Given the description of an element on the screen output the (x, y) to click on. 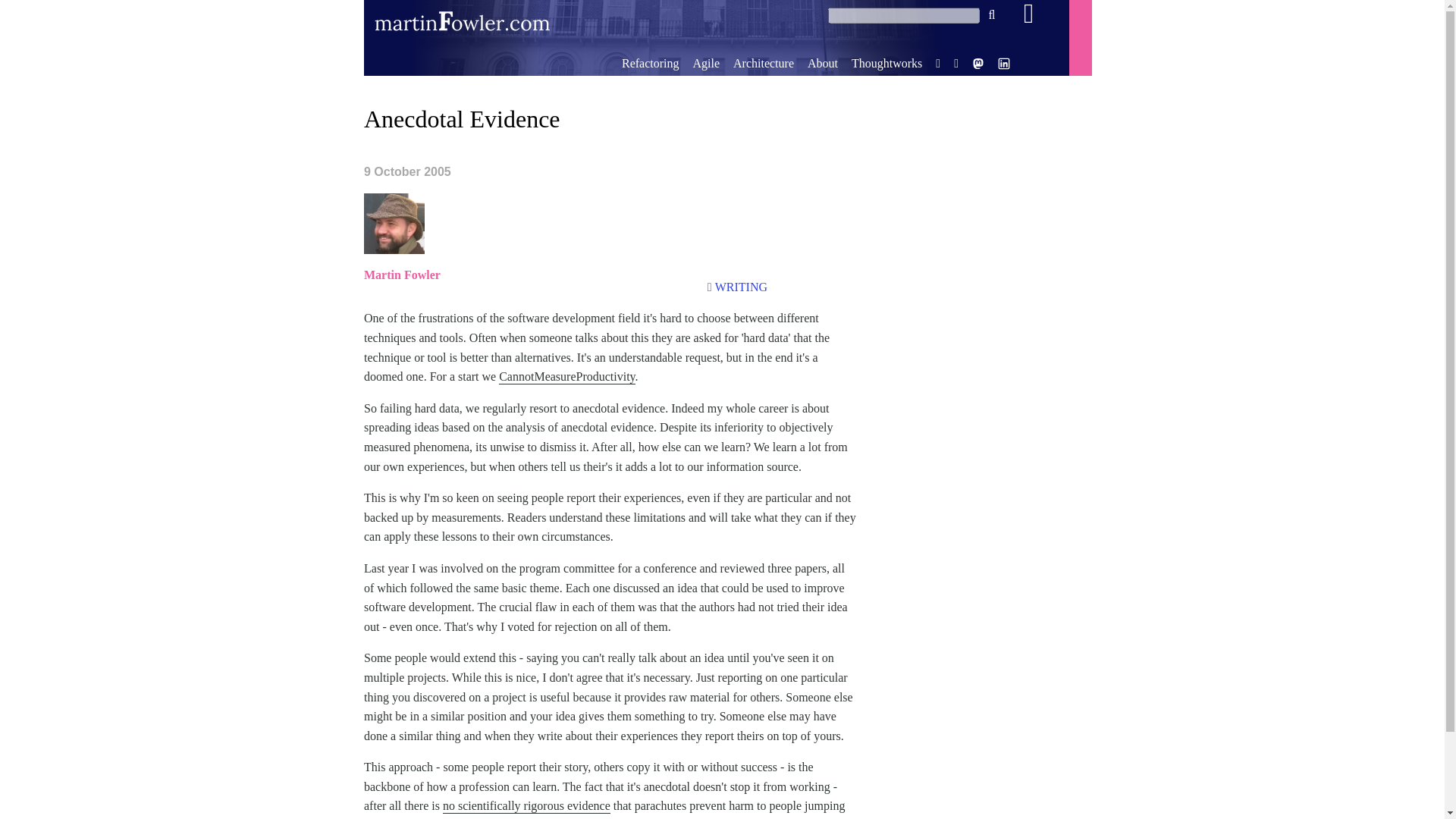
About (823, 62)
WRITING (740, 286)
Architecture (763, 62)
Martin Fowler (402, 274)
Mastodon stream (978, 65)
Photo of Martin Fowler (394, 223)
Refactoring (650, 62)
Search (991, 14)
Agile (706, 62)
